Given the description of an element on the screen output the (x, y) to click on. 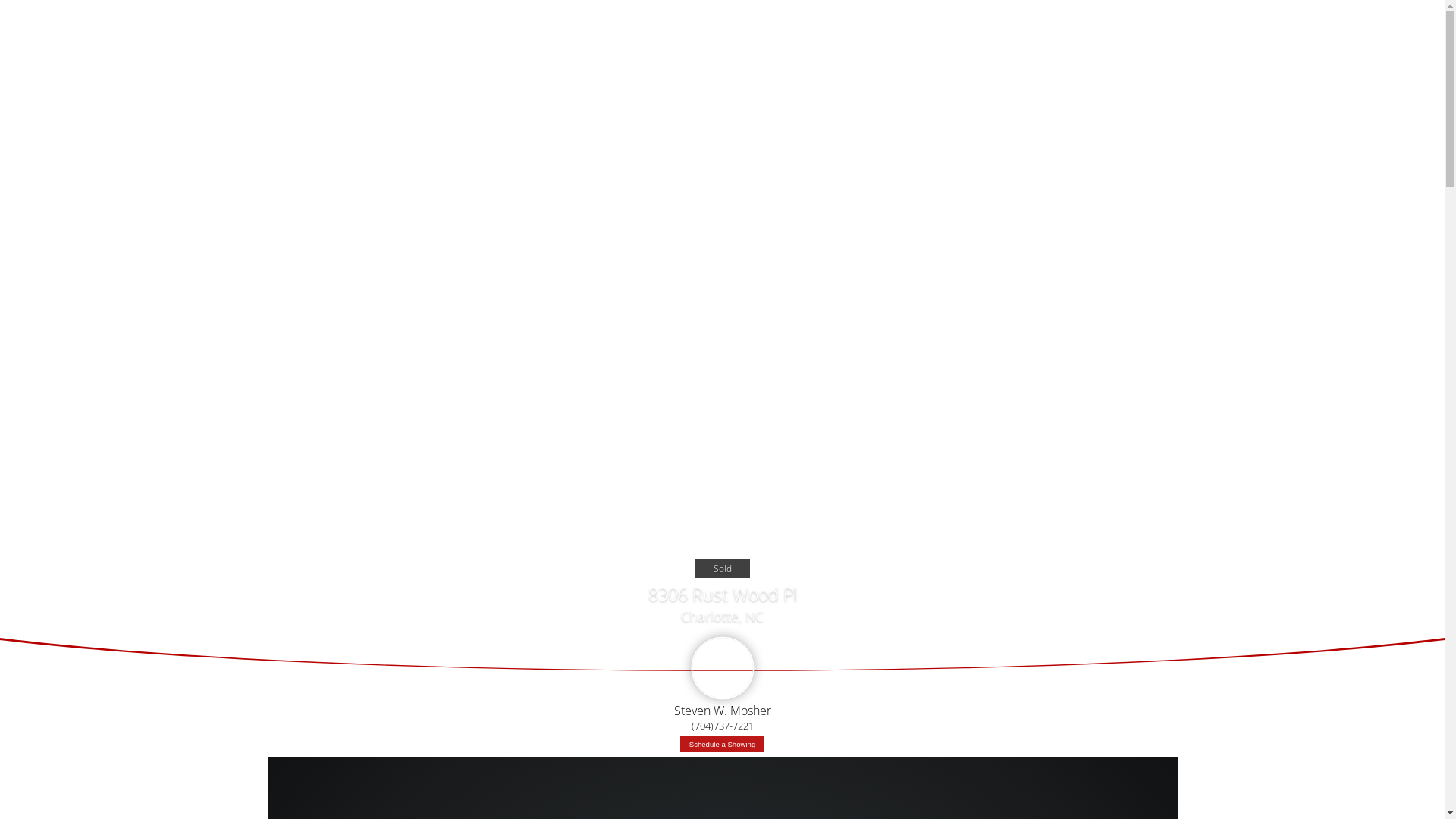
Schedule a Showing Element type: text (722, 744)
